Given the description of an element on the screen output the (x, y) to click on. 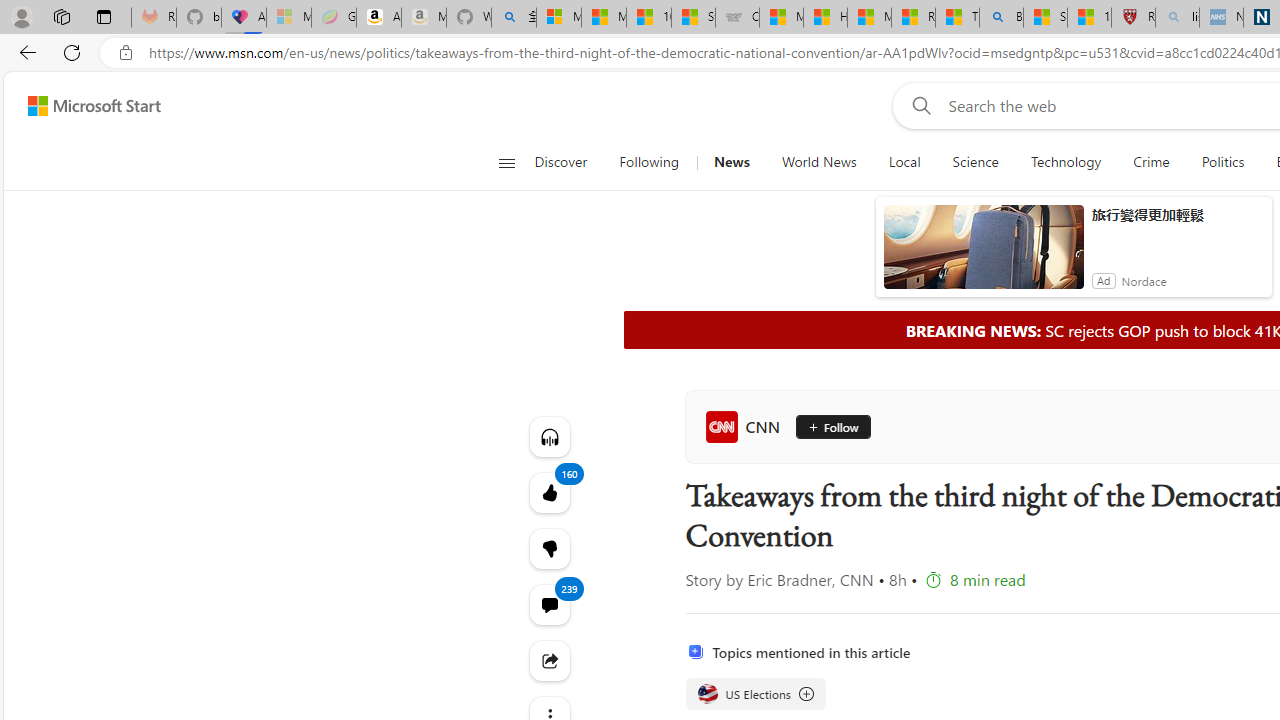
Local (903, 162)
Microsoft-Report a Concern to Bing - Sleeping (289, 17)
Science (975, 162)
Local (904, 162)
Robert H. Shmerling, MD - Harvard Health (1133, 17)
12 Popular Science Lies that Must be Corrected (1089, 17)
CNN (746, 426)
Combat Siege (737, 17)
Share this story (548, 660)
Listen to this article (548, 436)
